Given the description of an element on the screen output the (x, y) to click on. 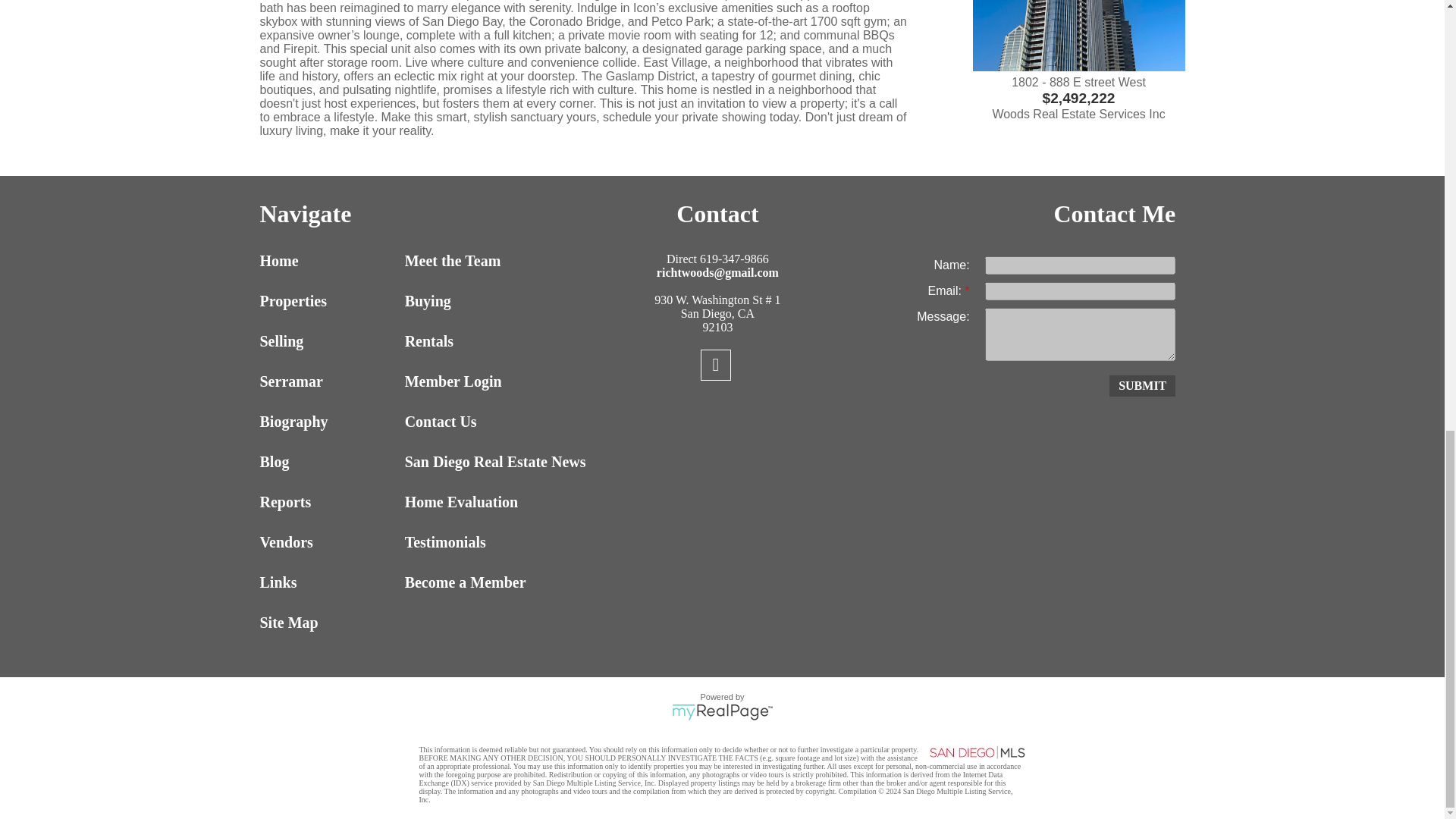
Vendors (327, 542)
Buying (472, 301)
Links (327, 582)
Meet the Team (472, 261)
Buying (472, 301)
Biography (327, 421)
Home (327, 261)
Home (327, 261)
Blog (327, 461)
Home Evaluation (472, 502)
San Diego Real Estate News (472, 461)
Selling (327, 341)
Rentals (472, 341)
Contact Us (472, 421)
Selling (327, 341)
